Given the description of an element on the screen output the (x, y) to click on. 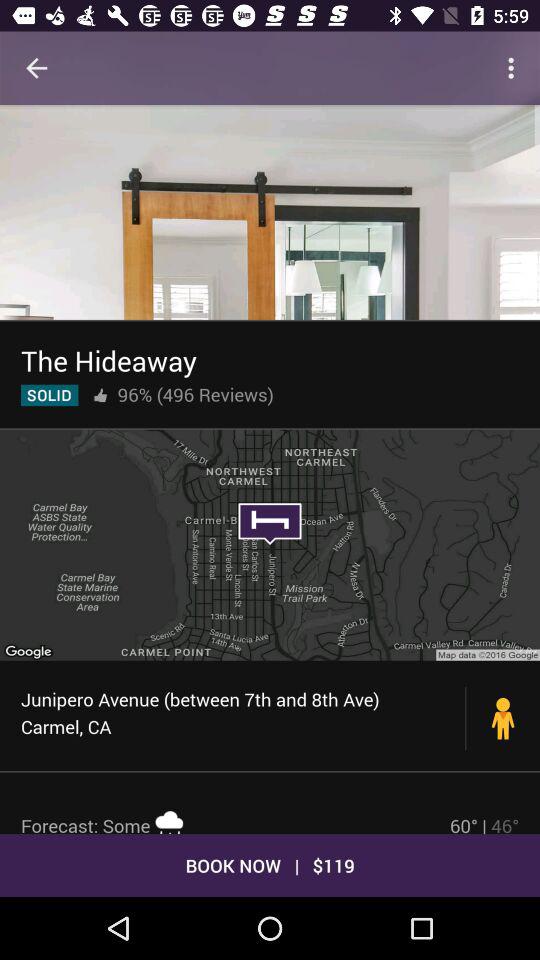
launch item above the hideaway item (270, 212)
